Given the description of an element on the screen output the (x, y) to click on. 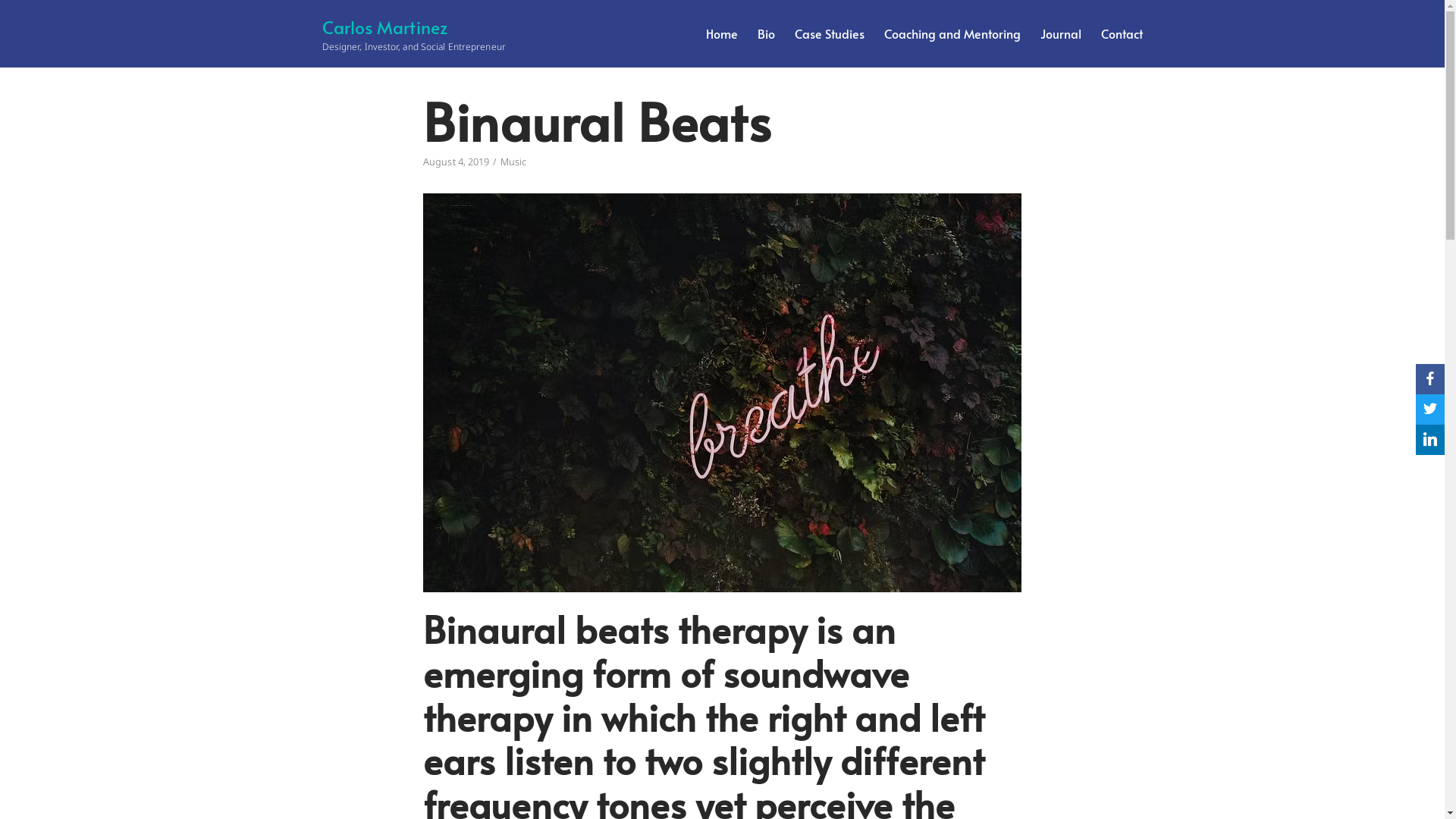
Coaching and Mentoring Element type: text (952, 33)
Bio Element type: text (765, 33)
Journal Element type: text (1060, 33)
Case Studies Element type: text (829, 33)
Music Element type: text (513, 161)
Contact Element type: text (1121, 33)
Skip to content Element type: text (15, 7)
Carlos Martinez
Designer, Investor, and Social Entrepreneur Element type: text (413, 33)
Home Element type: text (721, 33)
